Given the description of an element on the screen output the (x, y) to click on. 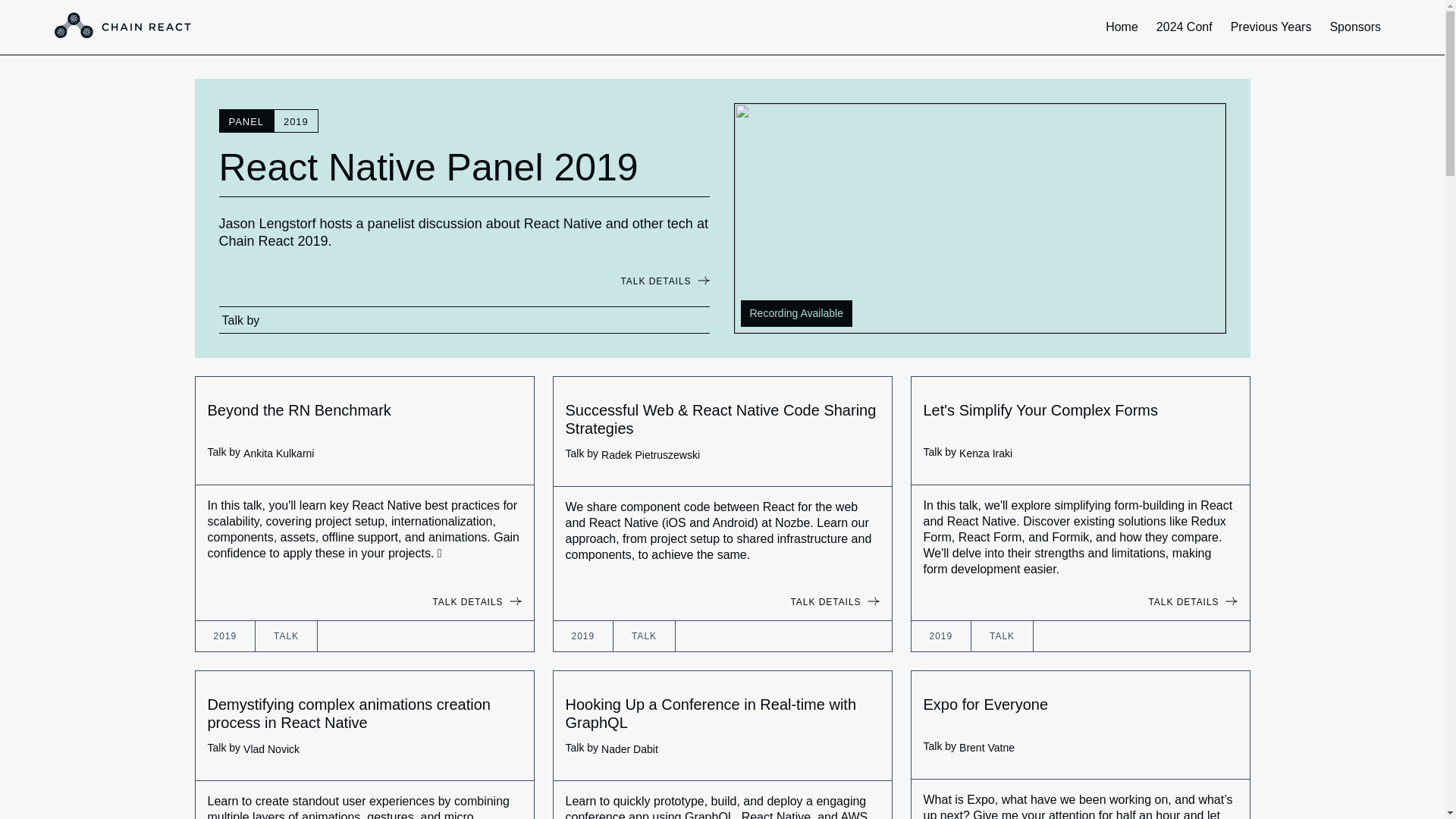
Home (1121, 27)
TALK DETAILS (655, 281)
React Native Panel 2019 (463, 170)
Hooking Up a Conference in Real-time with GraphQL (722, 714)
TALK DETAILS (825, 601)
Sponsors (1355, 27)
Nader Dabit (629, 748)
Brent Vatne (986, 748)
Beyond the RN Benchmark (364, 411)
Previous Years (1270, 27)
